Given the description of an element on the screen output the (x, y) to click on. 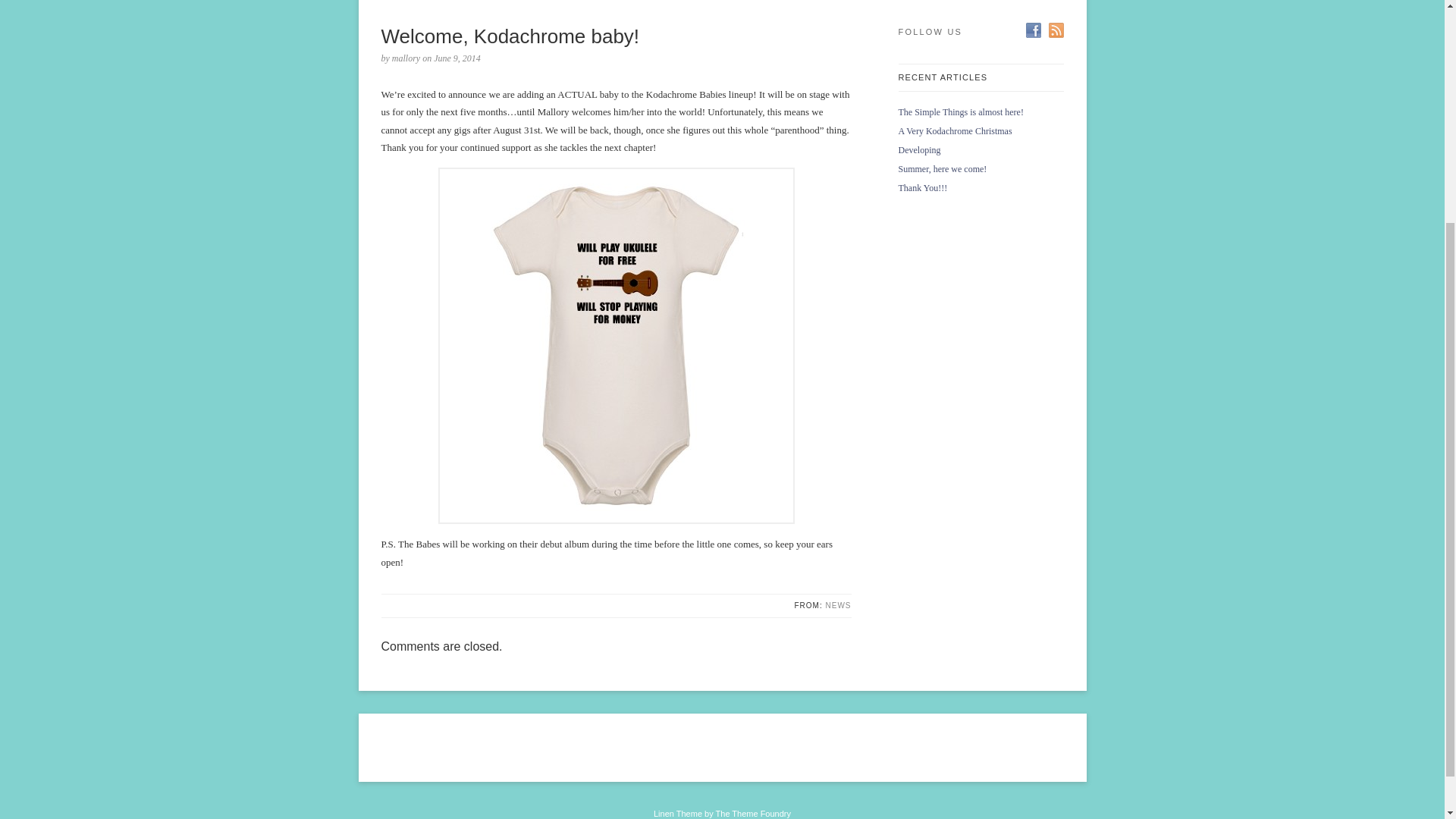
Summer, here we come! (942, 168)
The Simple Things is almost here! (960, 112)
Developing (919, 149)
NEWS (837, 605)
Thank You!!! (922, 187)
A Very Kodachrome Christmas (954, 131)
